Given the description of an element on the screen output the (x, y) to click on. 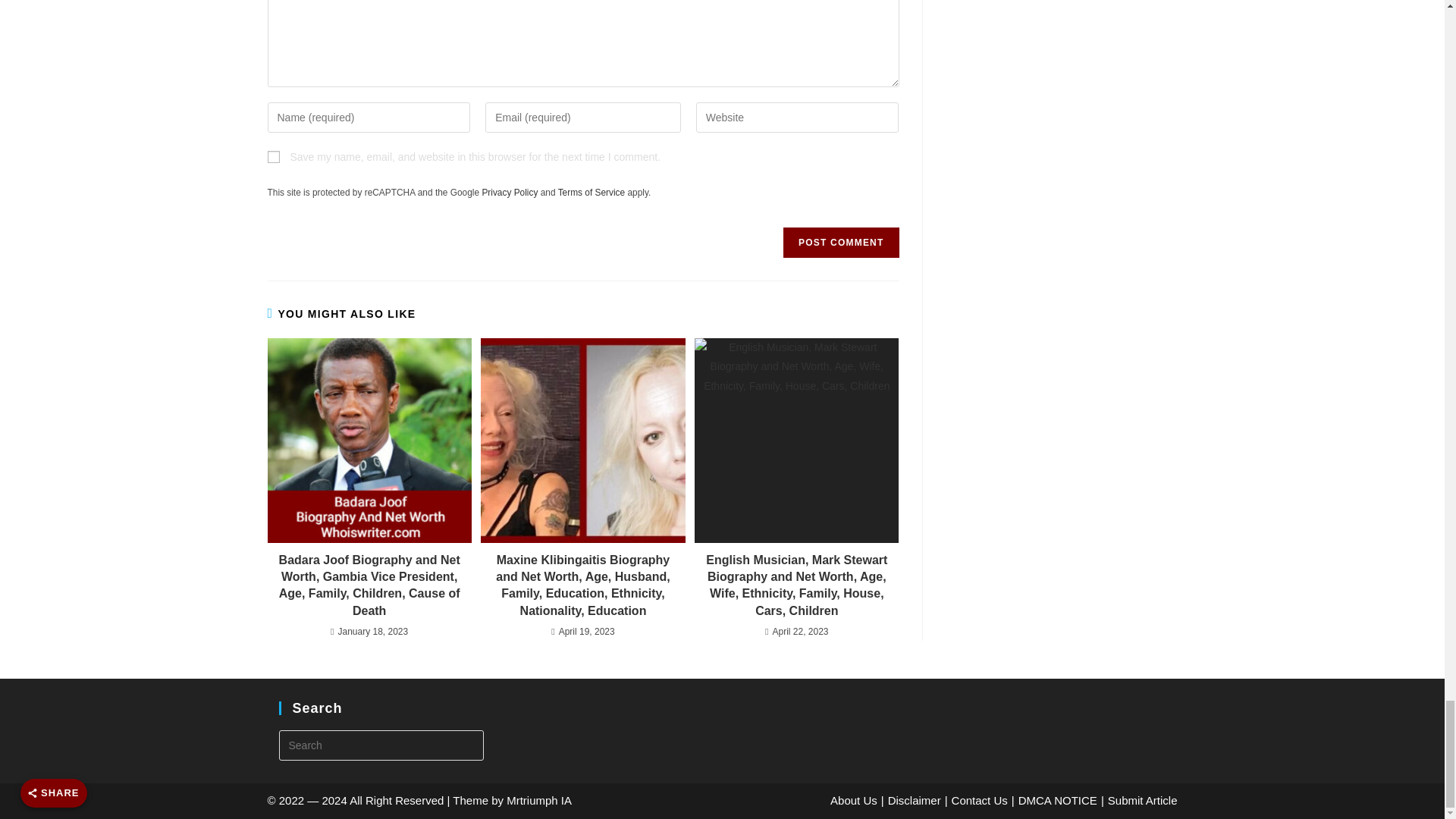
Post Comment (840, 242)
yes (272, 156)
